Given the description of an element on the screen output the (x, y) to click on. 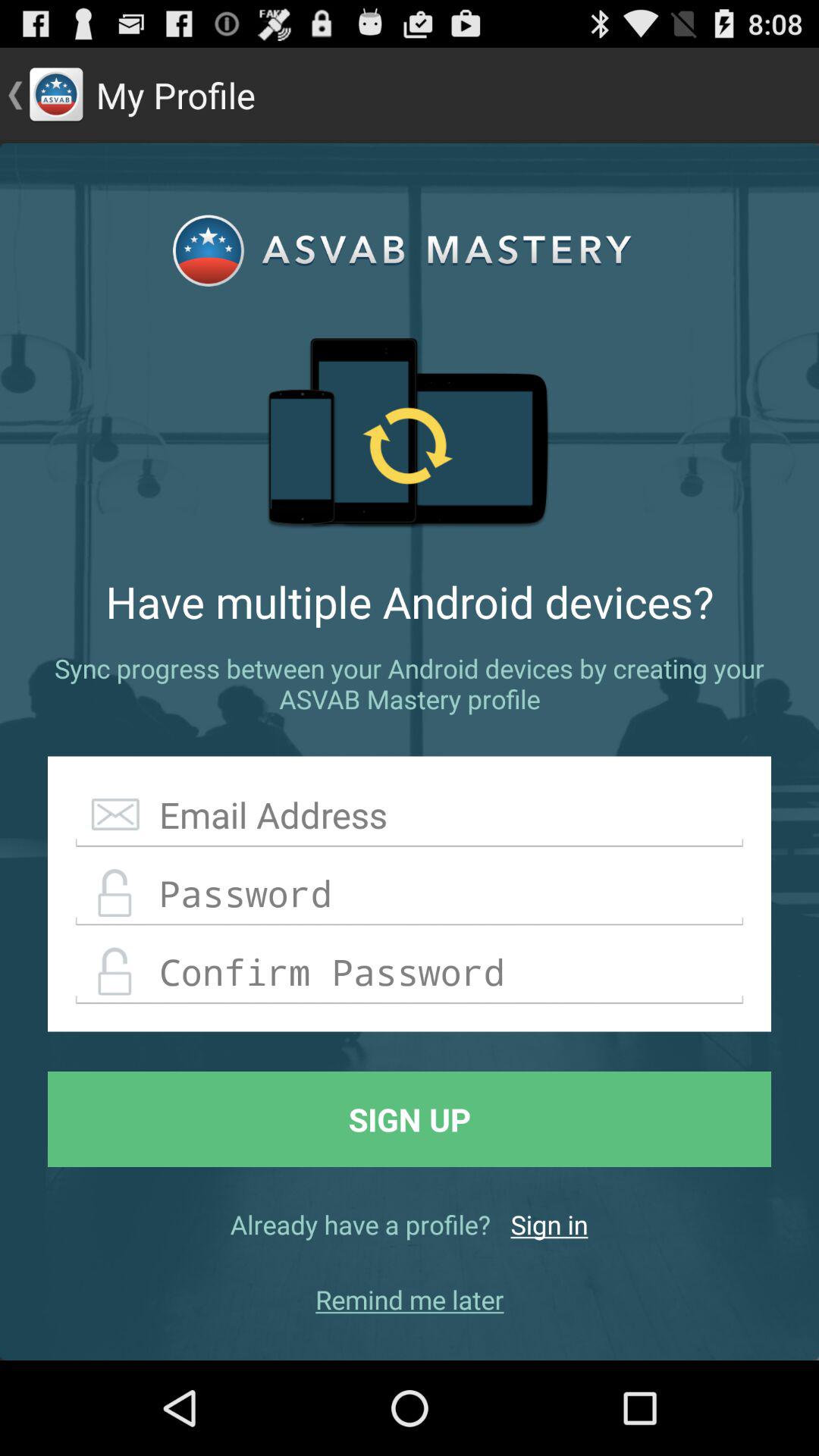
launch icon above already have a icon (409, 1119)
